Given the description of an element on the screen output the (x, y) to click on. 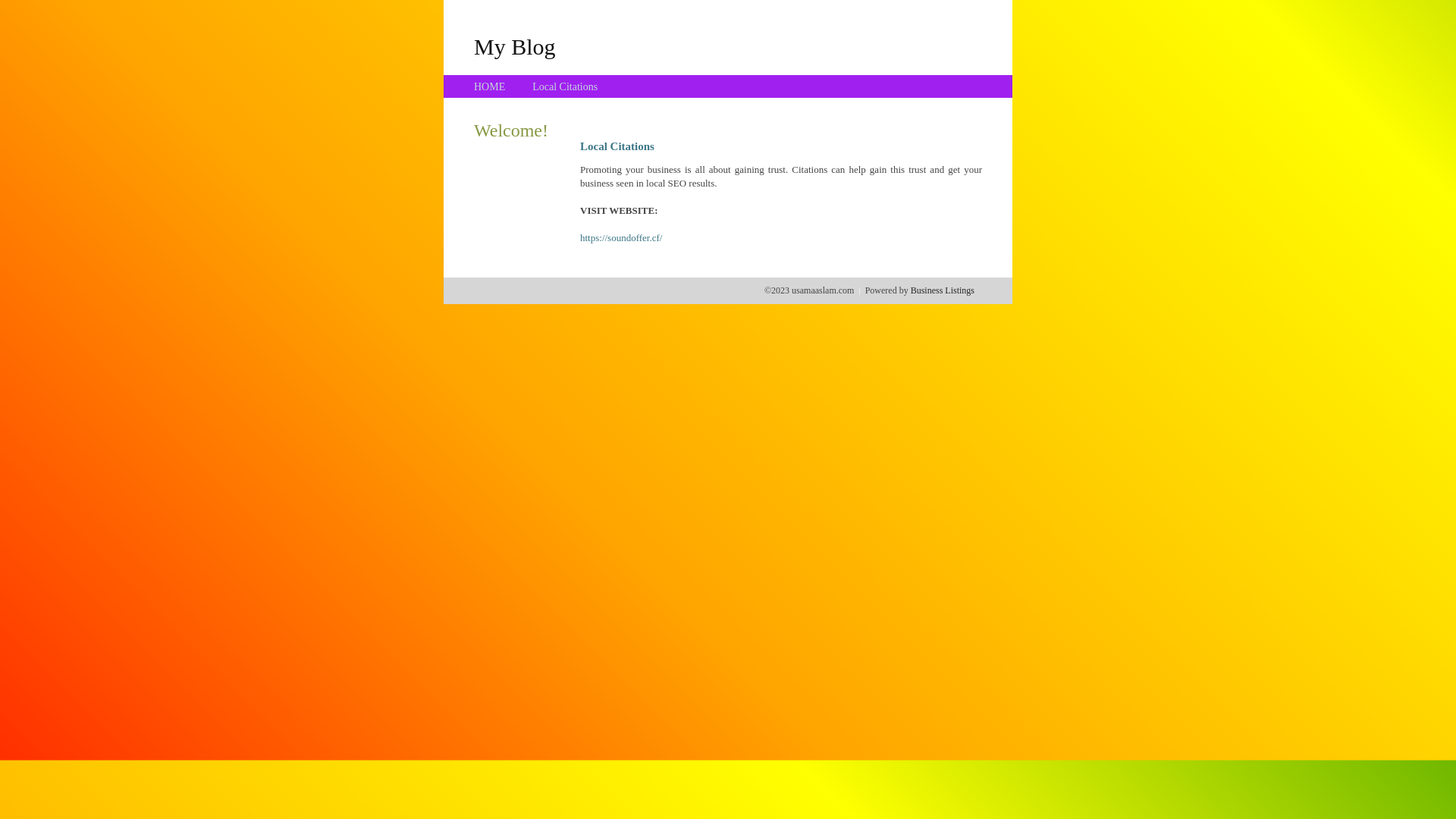
My Blog Element type: text (514, 46)
HOME Element type: text (489, 86)
Business Listings Element type: text (942, 290)
Local Citations Element type: text (564, 86)
https://soundoffer.cf/ Element type: text (621, 237)
